Given the description of an element on the screen output the (x, y) to click on. 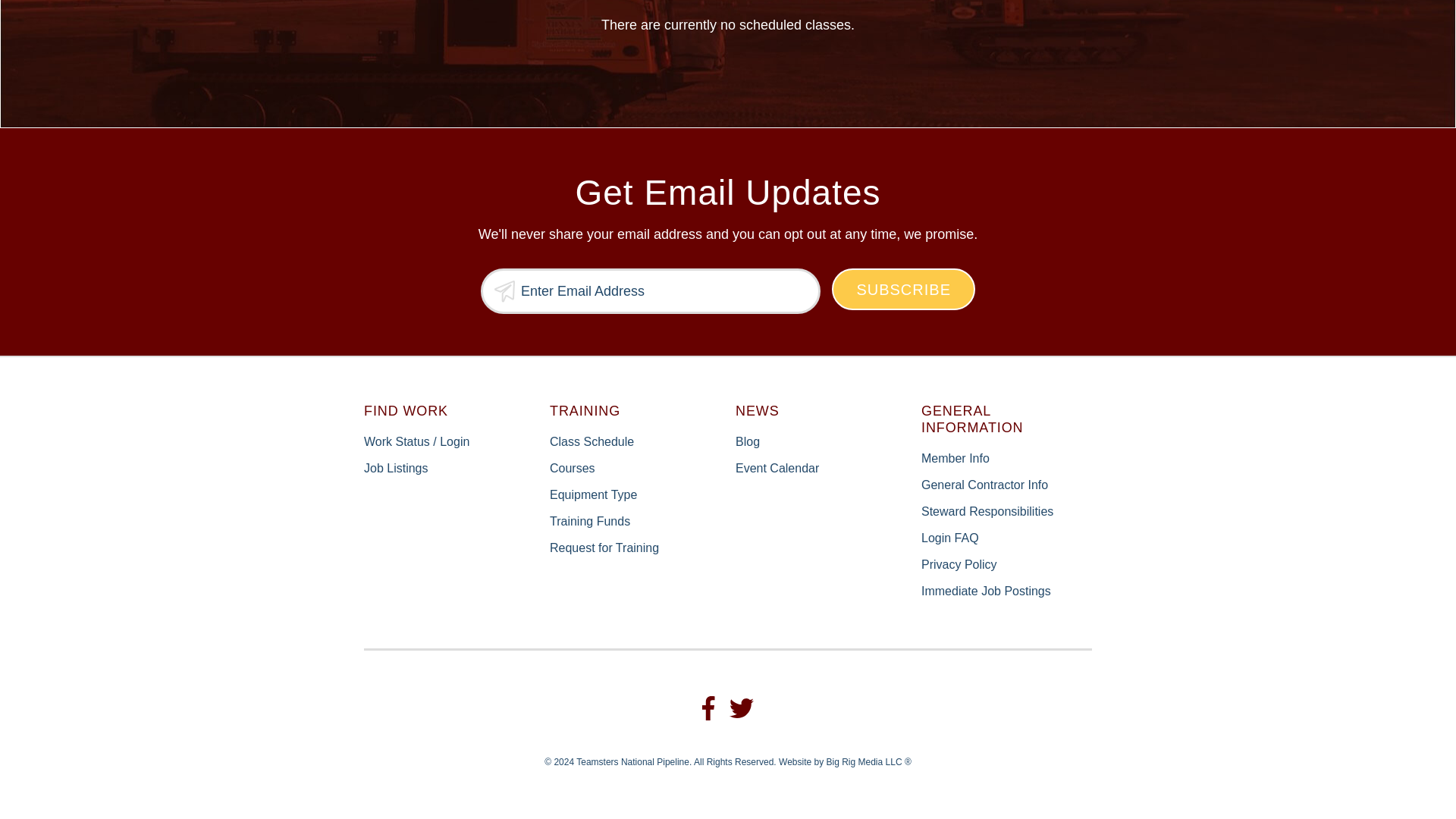
Class Schedule (591, 440)
Subscribe (903, 289)
Subscribe (903, 289)
Check Us Out On Twitter (741, 708)
Request for Training (604, 547)
Training Funds (590, 521)
Blog (747, 440)
Equipment Type (593, 494)
Courses (572, 468)
Job Listings (396, 468)
